Given the description of an element on the screen output the (x, y) to click on. 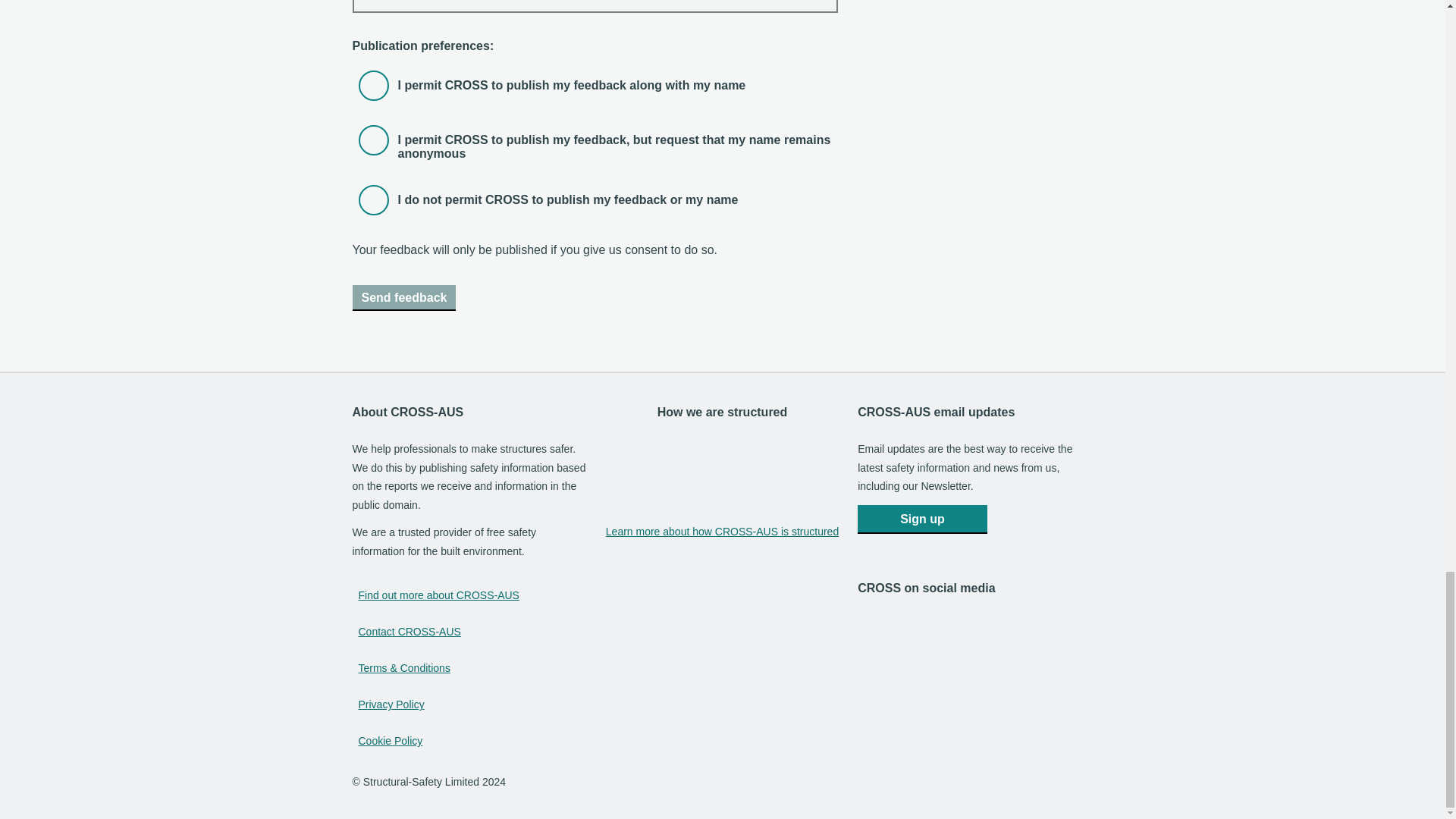
Find out more about CROSS-AUS (438, 595)
Contact CROSS-AUS (409, 632)
Send feedback (403, 298)
